Given the description of an element on the screen output the (x, y) to click on. 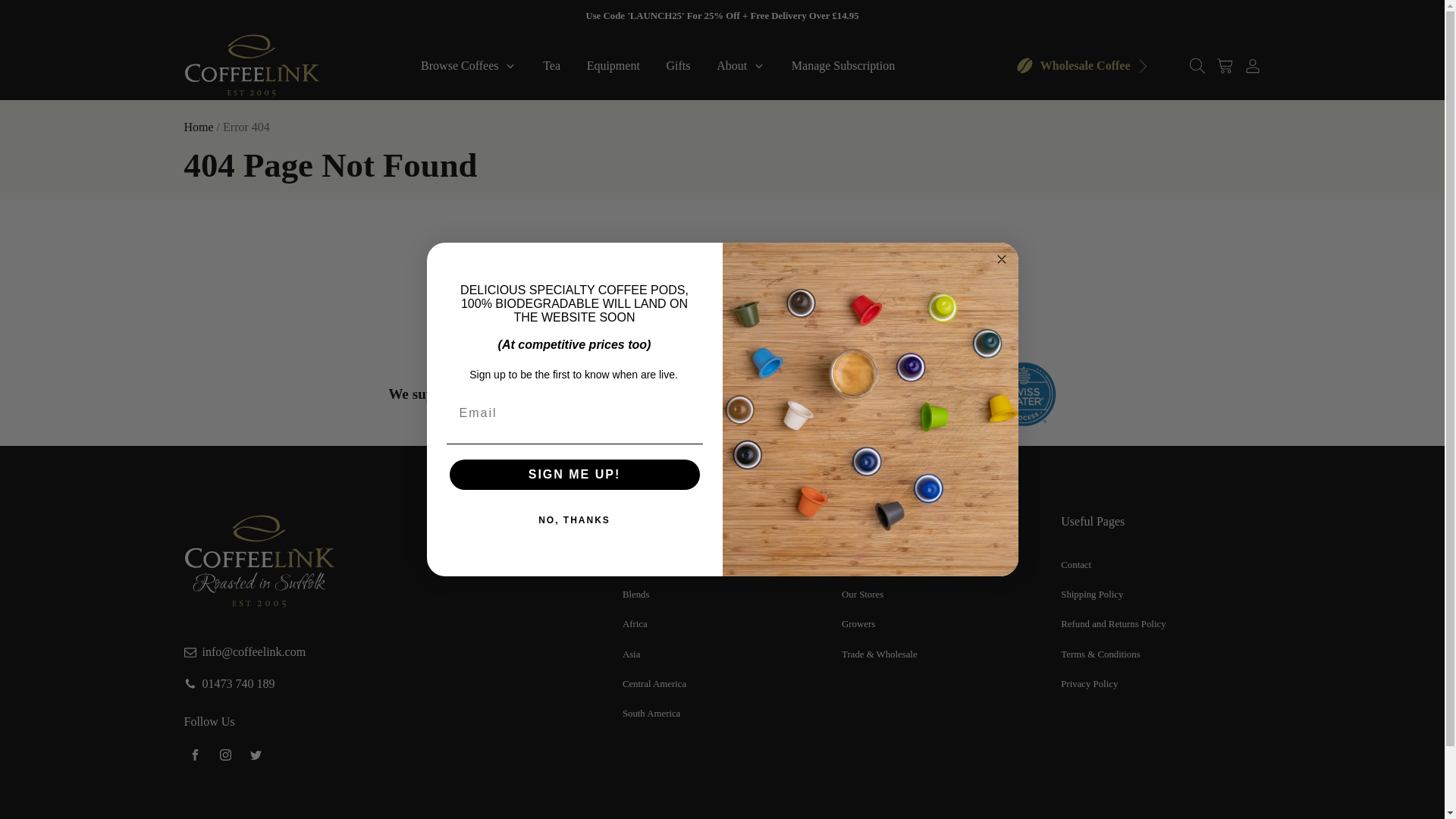
Gifts (677, 65)
Tea (551, 65)
Browse Coffees (468, 65)
Wholesale Coffee (1082, 65)
Equipment (612, 65)
Manage Subscription (842, 65)
About (740, 65)
